Given the description of an element on the screen output the (x, y) to click on. 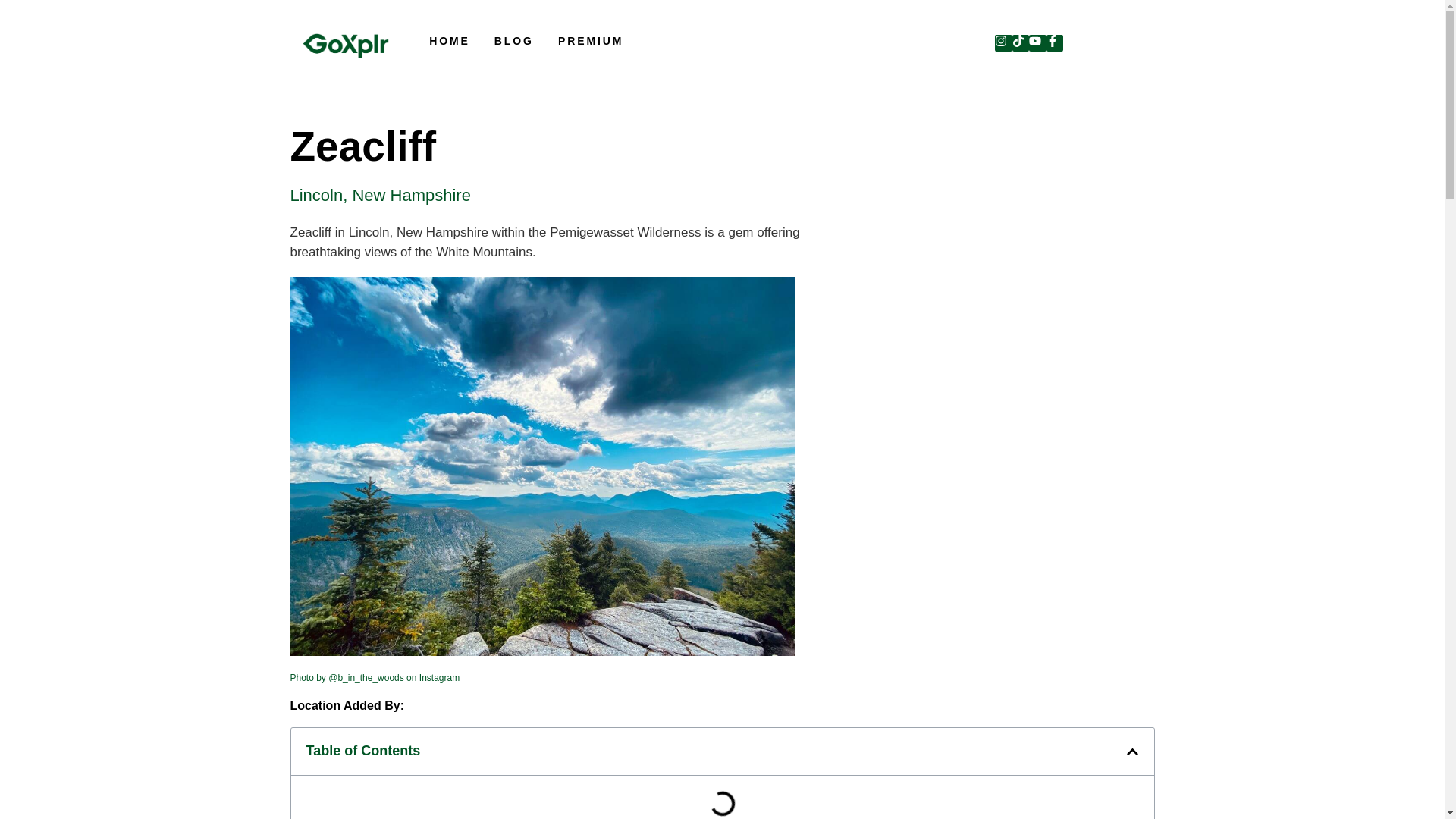
HOME (449, 41)
BLOG (514, 41)
PREMIUM (590, 41)
